Given the description of an element on the screen output the (x, y) to click on. 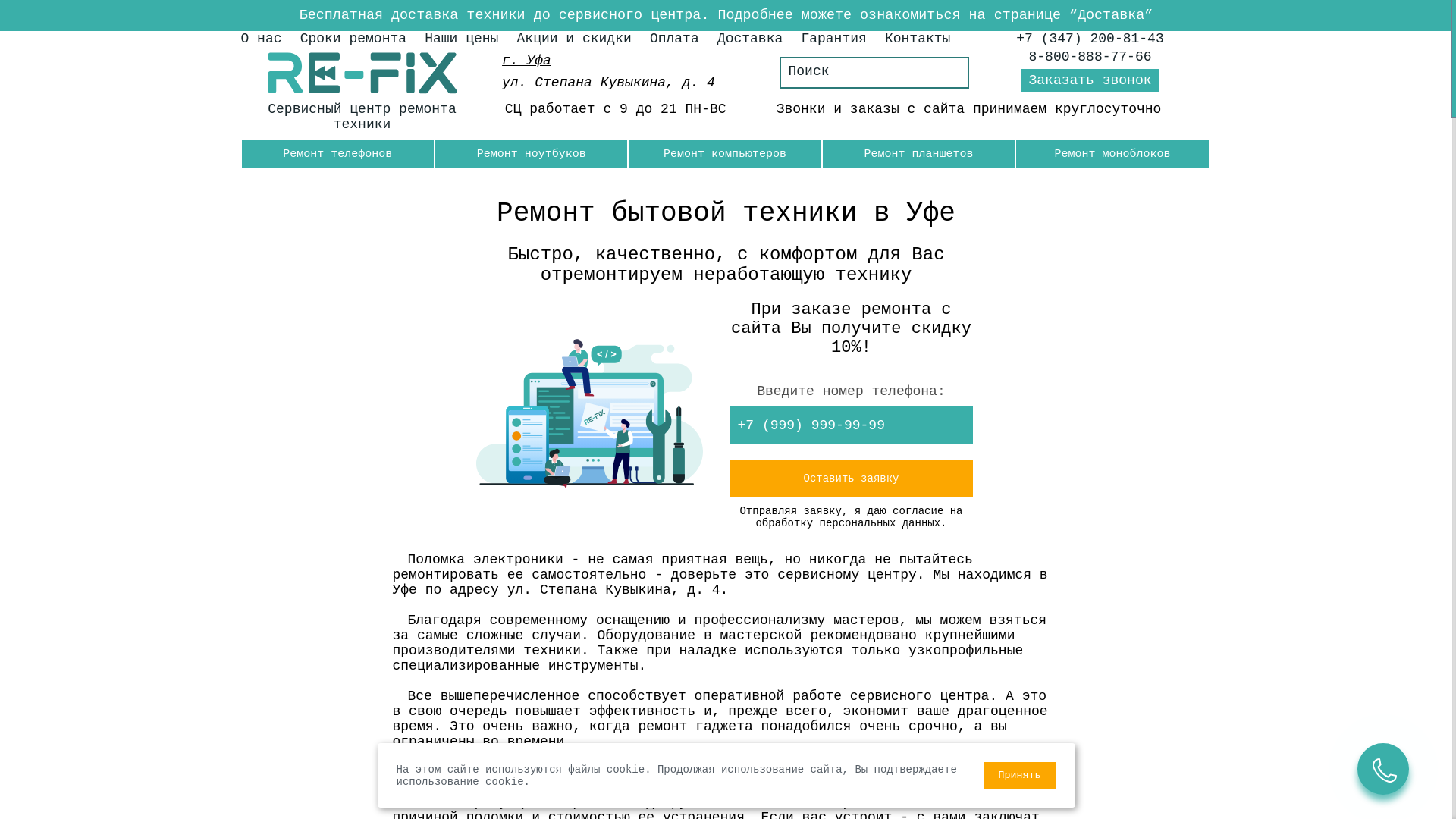
8-800-888-77-66 Element type: text (1090, 56)
+7 (347) 200-81-43 Element type: text (1089, 38)
